Given the description of an element on the screen output the (x, y) to click on. 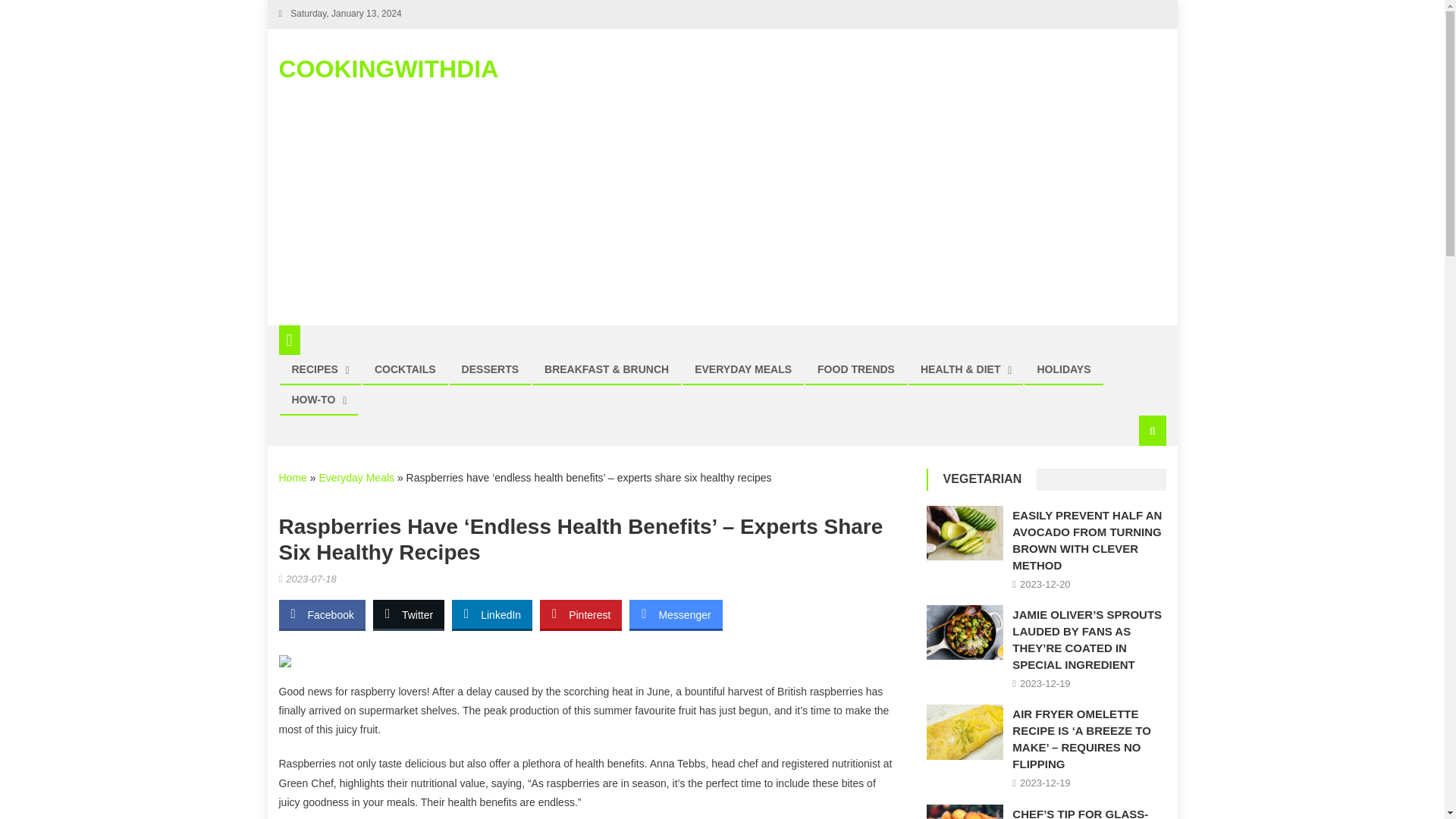
LinkedIn (491, 613)
HOW-TO (314, 399)
Pinterest (580, 613)
DESSERTS (489, 369)
2023-07-18 (310, 578)
COCKTAILS (404, 369)
Everyday Meals (356, 477)
Twitter (408, 613)
COOKINGWITHDIA (389, 68)
